Given the description of an element on the screen output the (x, y) to click on. 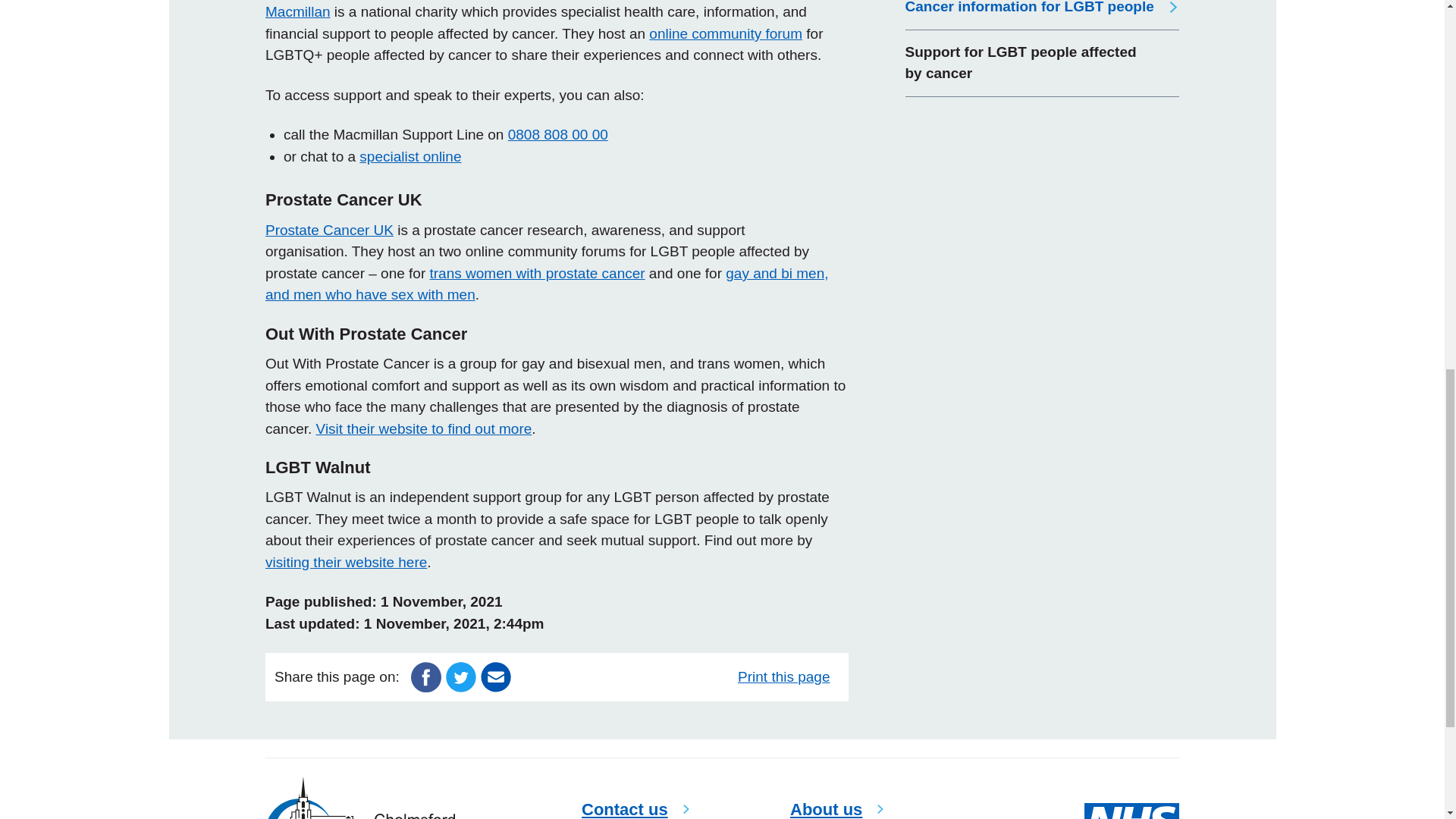
Share on Twitter (460, 675)
trans women with prostate cancer (537, 273)
online community forum (725, 33)
Prostate Cancer UK (328, 229)
gay and bi men, and men who have sex with men (546, 284)
specialist online (410, 156)
0808 808 00 00 (558, 134)
Share on Facebook (425, 675)
The Chelmsford City Health PCN Homepage (359, 797)
Share via Email (495, 675)
visiting their website here (345, 562)
Macmillan (297, 11)
Visit their website to find out more (423, 428)
